Given the description of an element on the screen output the (x, y) to click on. 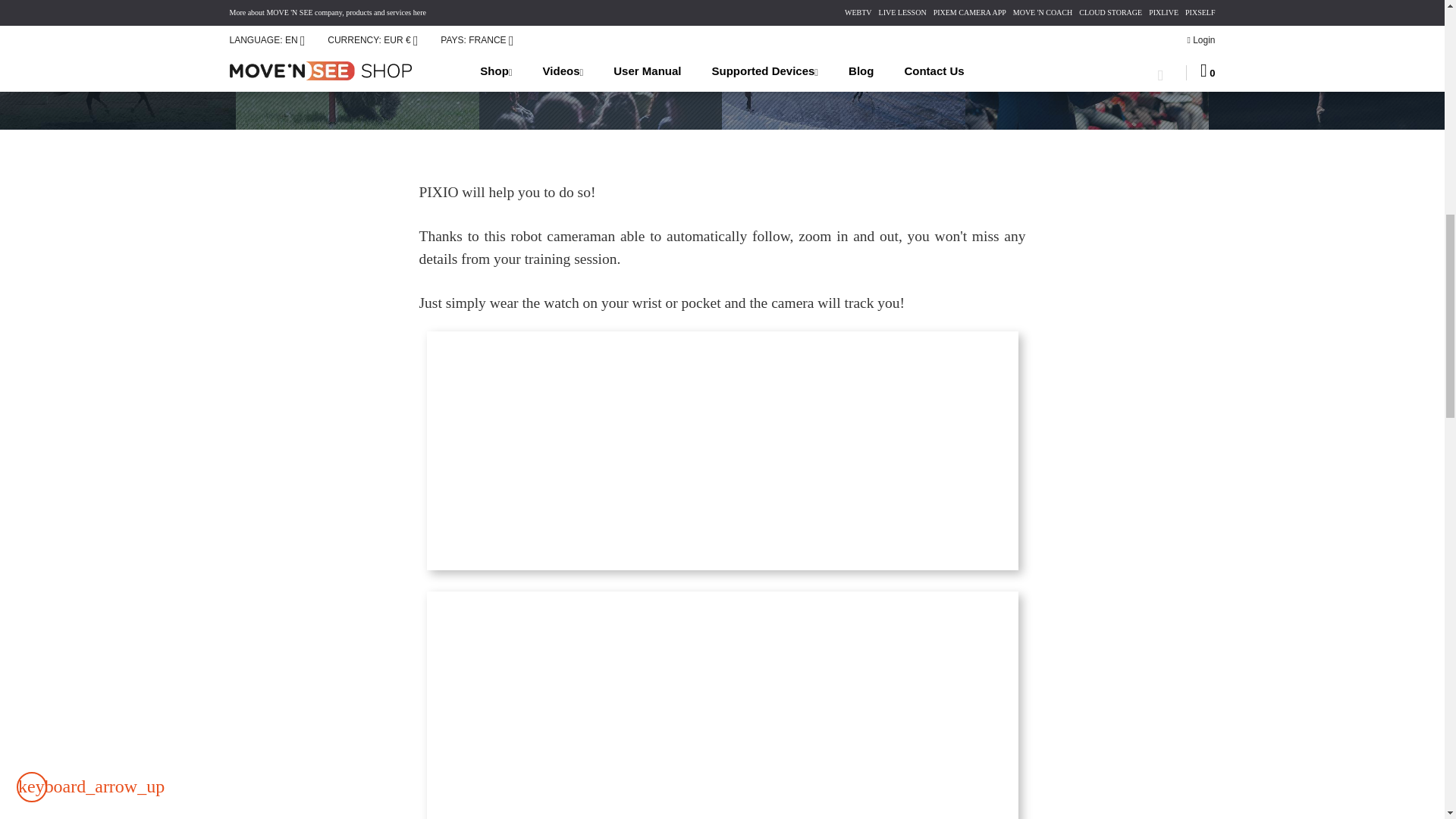
PIXIO for horse riding (117, 64)
PIXIO for agility (357, 64)
PIXIO for speaker and conferences (1086, 64)
PIXIO for ice skating (843, 64)
PIXIO for entertainment (600, 64)
